Given the description of an element on the screen output the (x, y) to click on. 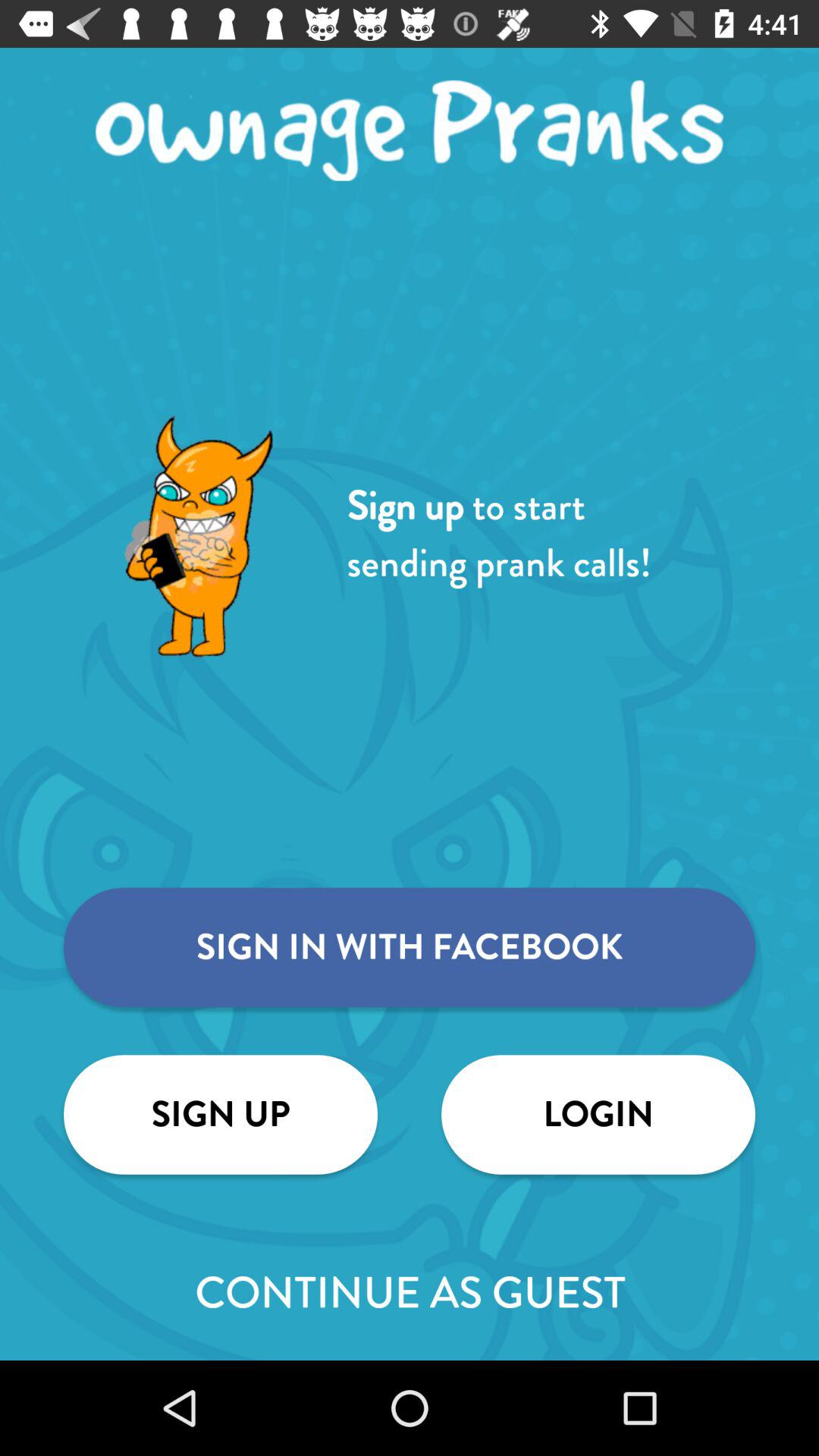
press item below the sign up (410, 1293)
